Given the description of an element on the screen output the (x, y) to click on. 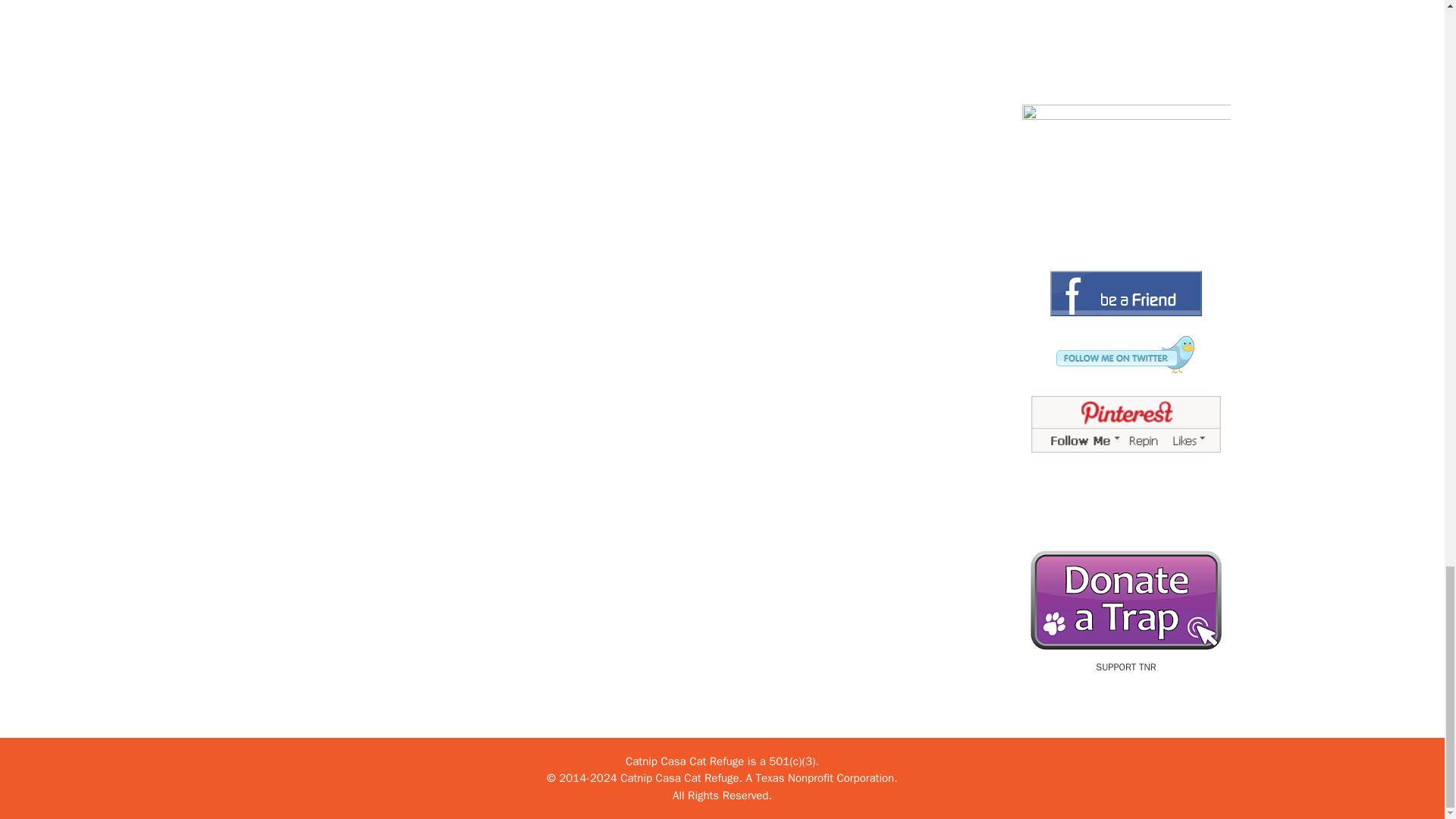
Facebook (1125, 293)
